Given the description of an element on the screen output the (x, y) to click on. 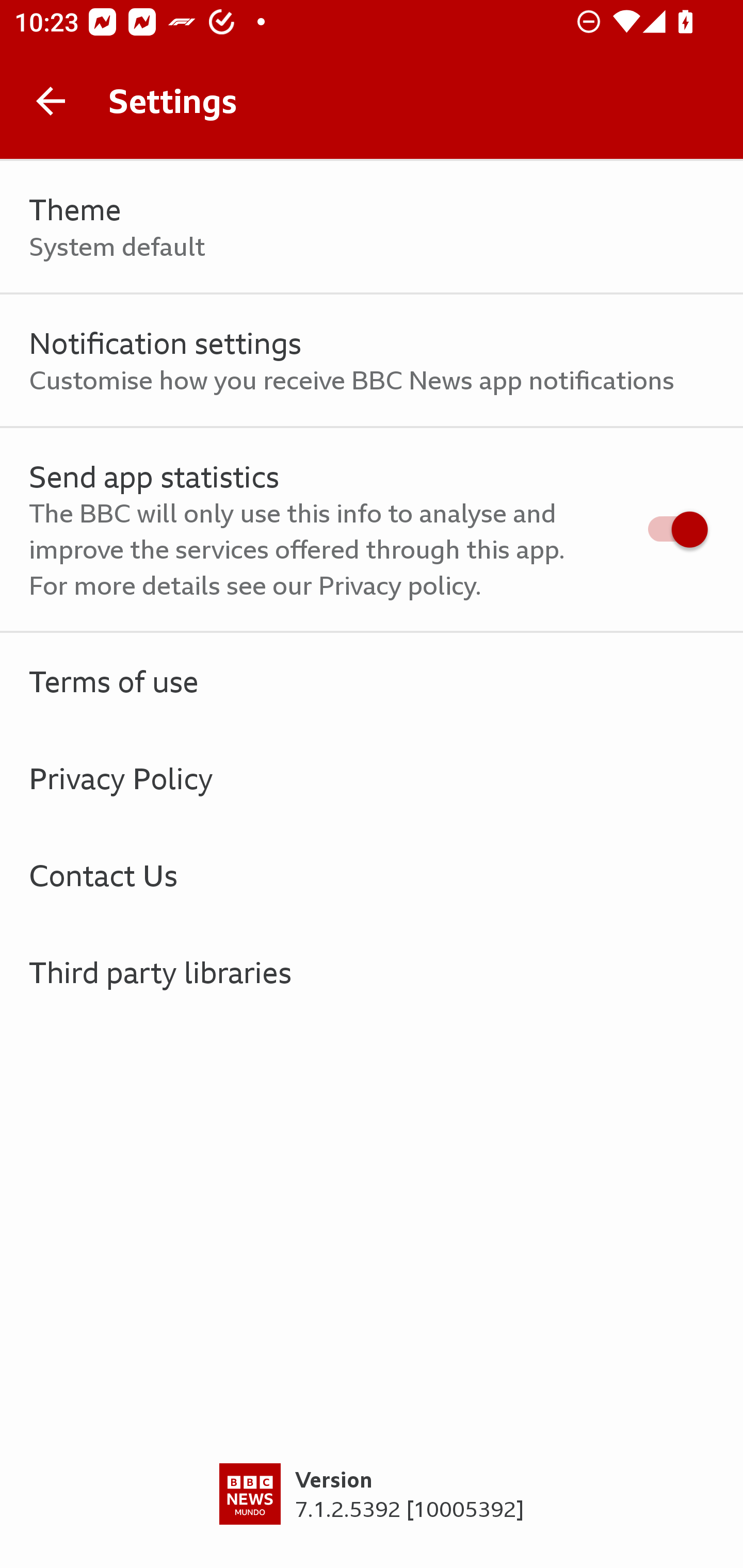
Back (50, 101)
Theme System default (371, 227)
Terms of use (371, 681)
Privacy Policy (371, 777)
Contact Us (371, 874)
Third party libraries (371, 971)
Version 7.1.2.5392 [10005392] (371, 1515)
